Given the description of an element on the screen output the (x, y) to click on. 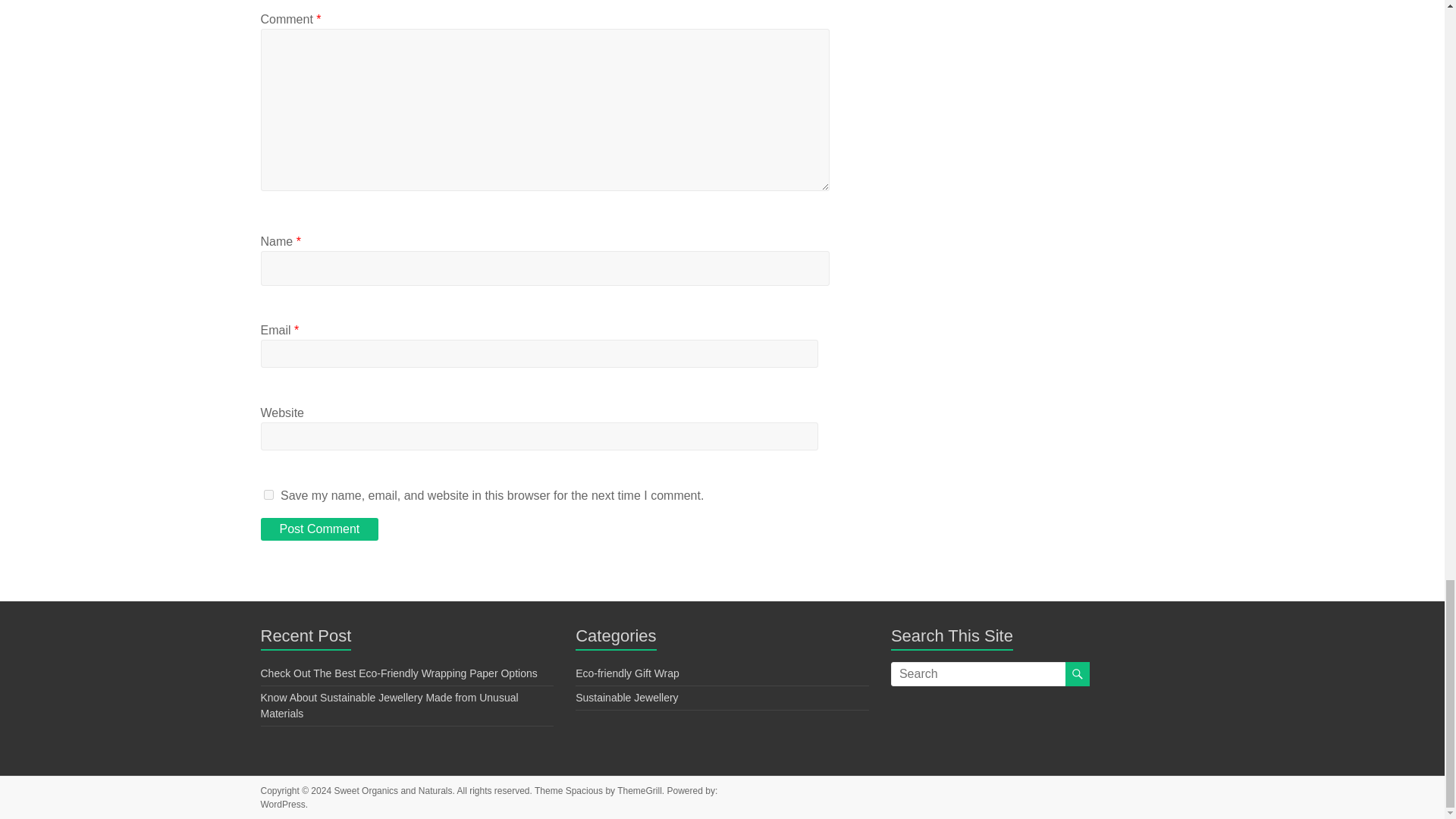
WordPress (282, 804)
Sustainable Jewellery (626, 697)
Spacious (584, 790)
Spacious (584, 790)
Check Out The Best Eco-Friendly Wrapping Paper Options (398, 673)
Post Comment (319, 528)
Know About Sustainable Jewellery Made from Unusual Materials (389, 705)
Sweet Organics and Naturals (392, 790)
Sweet Organics and Naturals (392, 790)
Post Comment (319, 528)
